Given the description of an element on the screen output the (x, y) to click on. 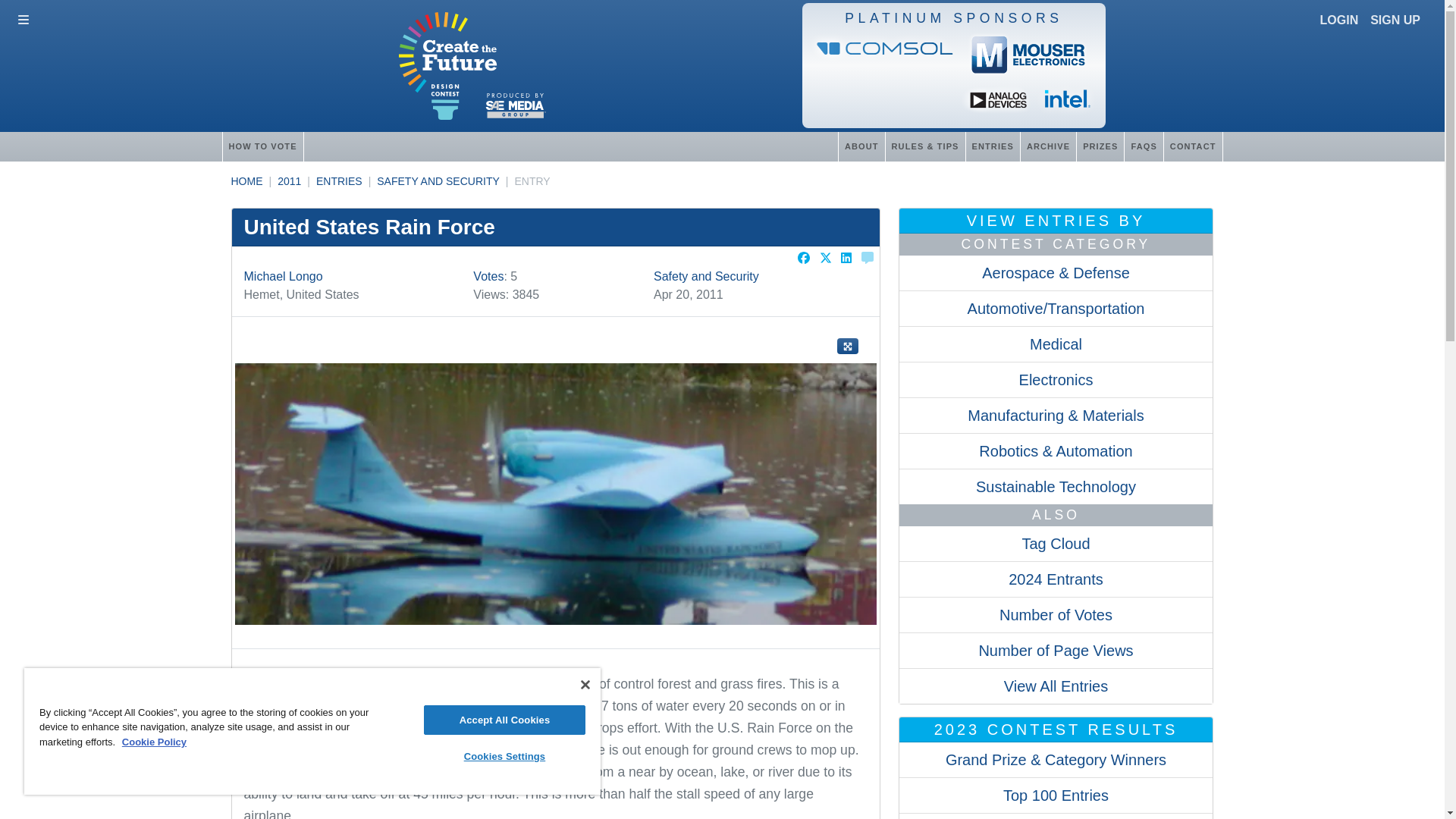
HOME (246, 181)
ENTRIES (992, 146)
Michael Longo (283, 276)
ARCHIVE (1047, 146)
PRIZES (1099, 146)
SIGN UP (1395, 20)
SAFETY AND SECURITY (438, 181)
LOGIN (1339, 20)
HOW TO VOTE (261, 146)
FAQS (1142, 146)
CONTACT (1193, 146)
Safety and Security (705, 276)
ABOUT (861, 146)
ENTRIES (338, 181)
2011 (289, 181)
